Given the description of an element on the screen output the (x, y) to click on. 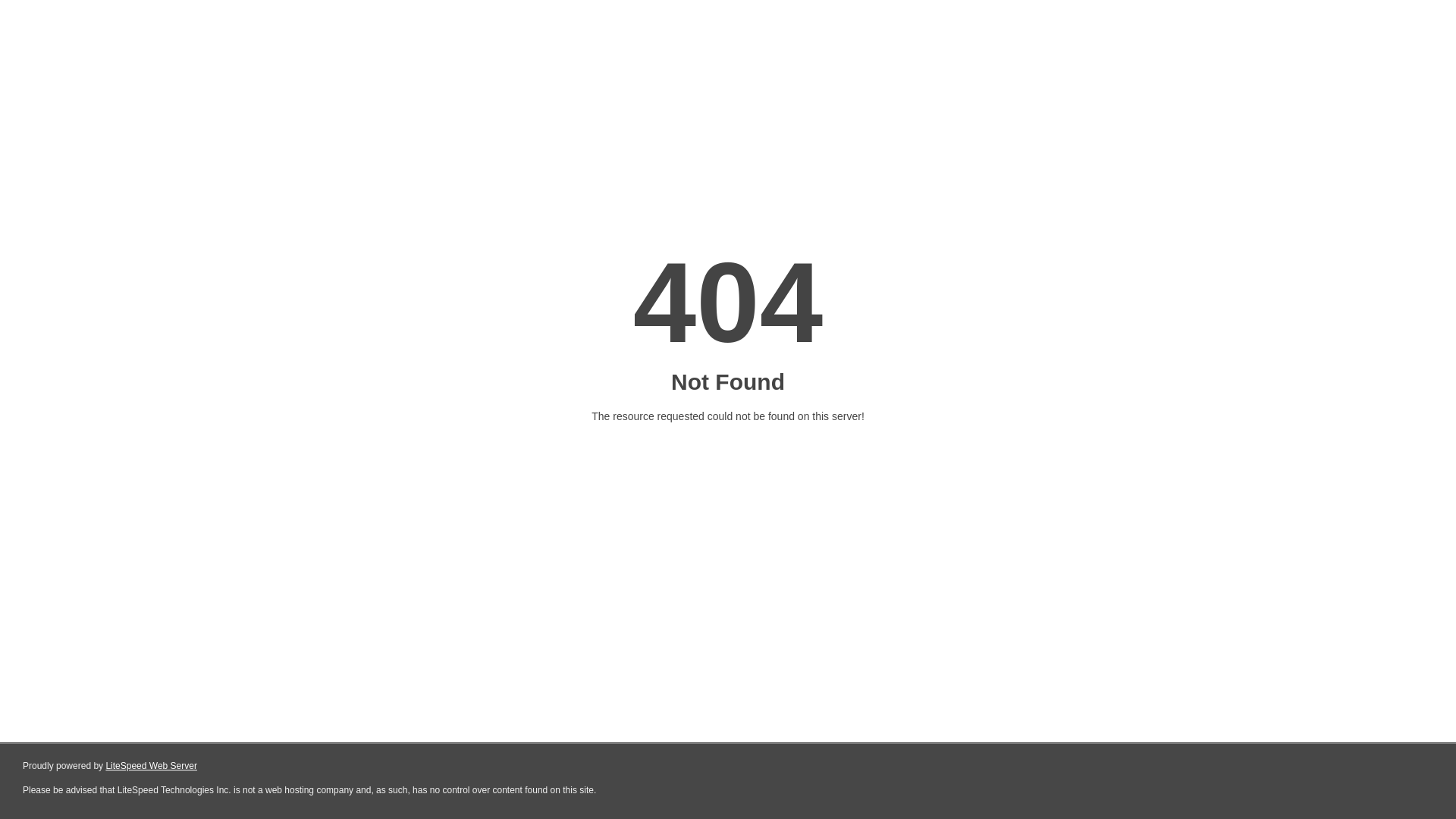
LiteSpeed Web Server Element type: text (151, 765)
